Given the description of an element on the screen output the (x, y) to click on. 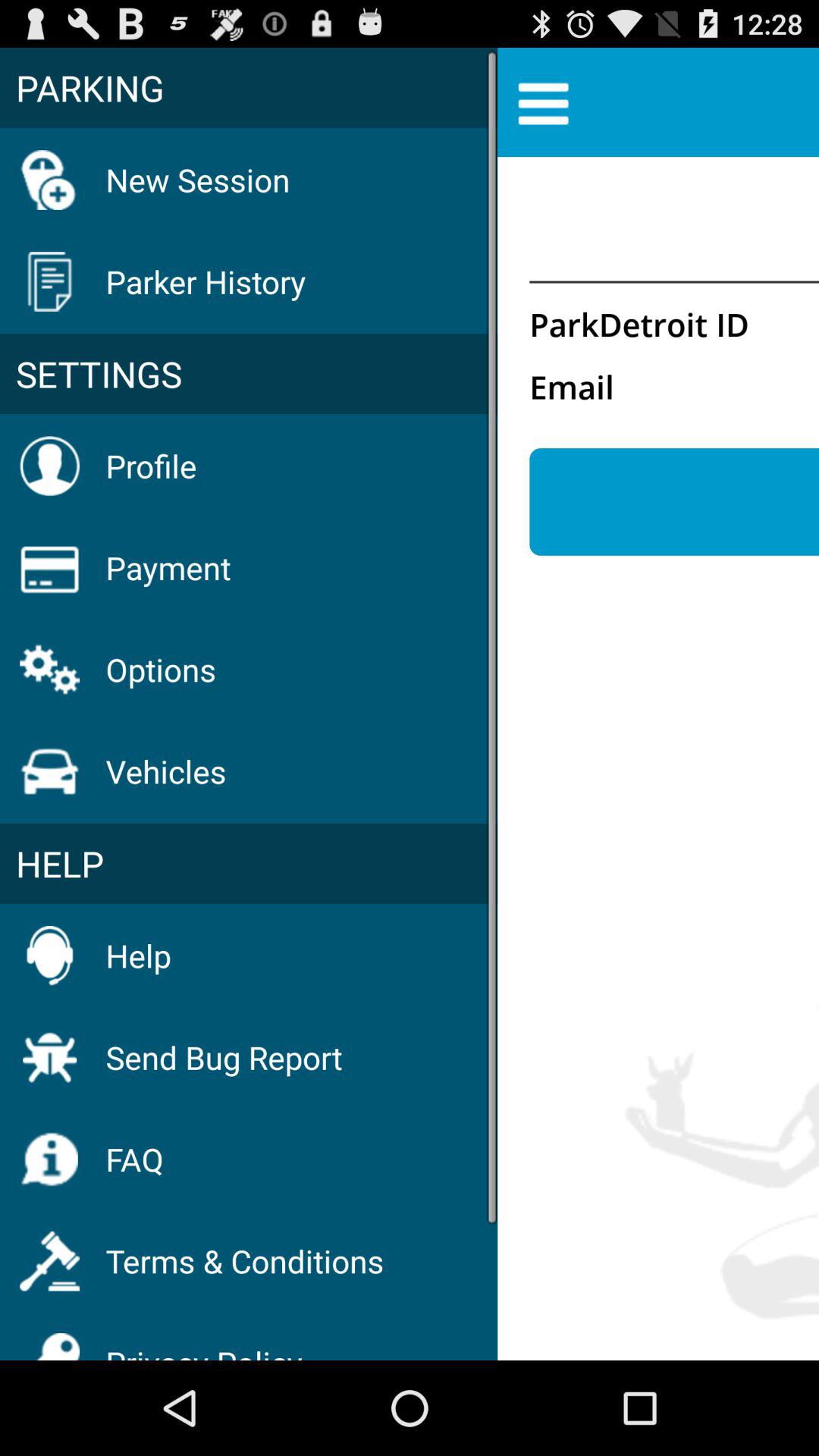
select the parking item (248, 87)
